Given the description of an element on the screen output the (x, y) to click on. 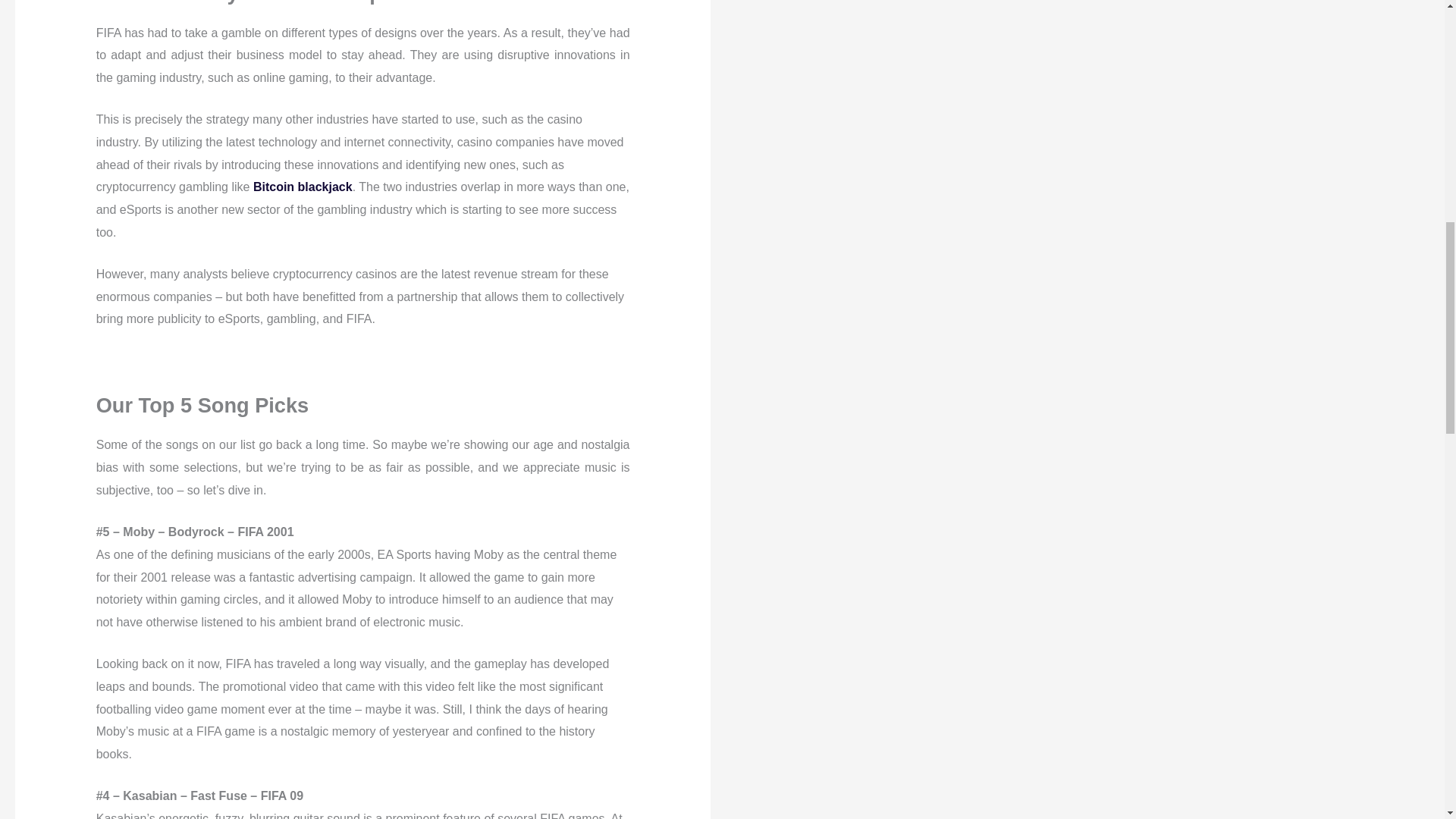
Bitcoin blackjack (302, 186)
